Given the description of an element on the screen output the (x, y) to click on. 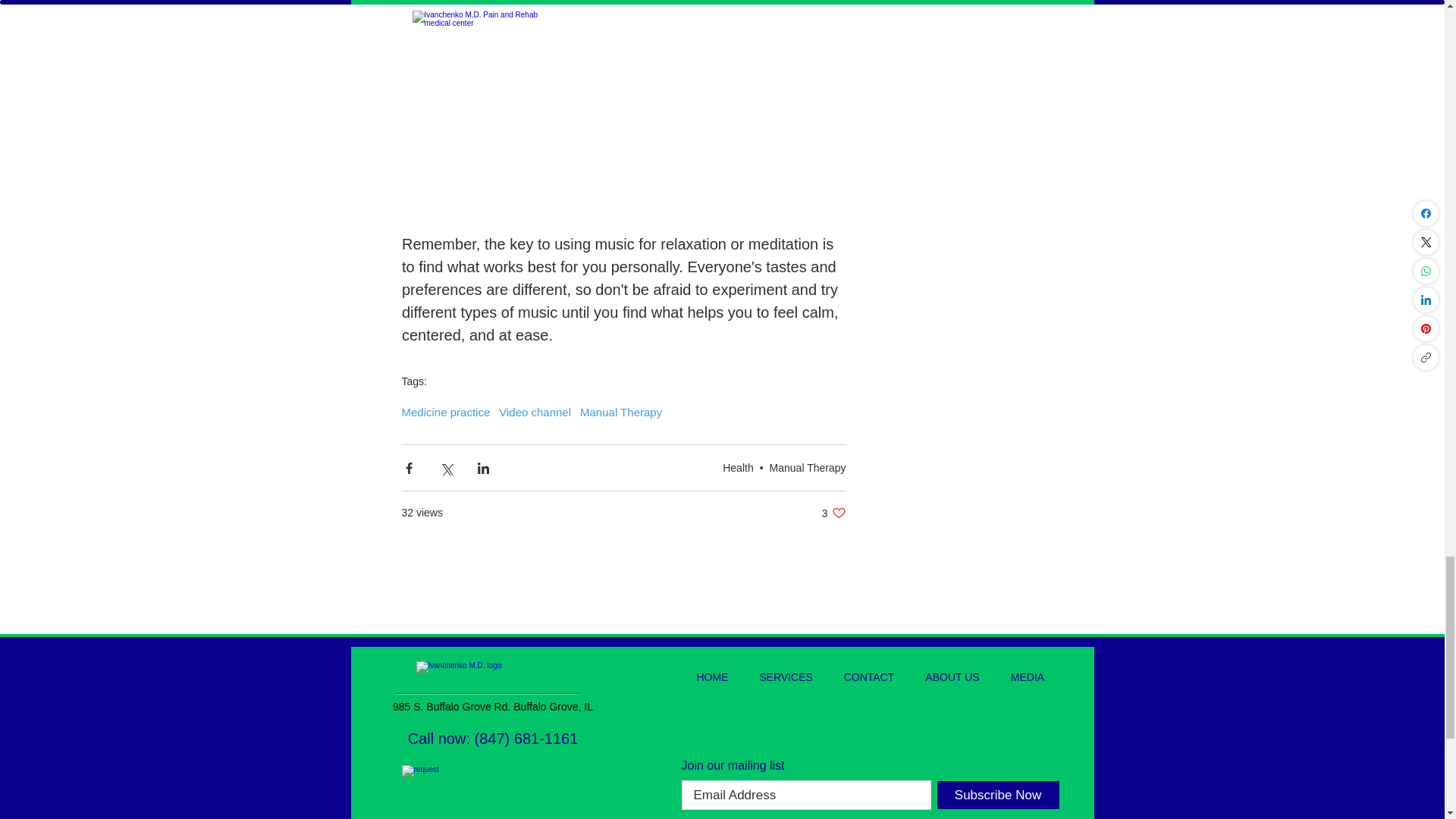
Health (737, 467)
Medicine practice (445, 411)
Ivanchenko M.D. logo (491, 675)
Video channel (833, 513)
Manual Therapy (534, 411)
Manual Therapy (807, 467)
Request our service (620, 411)
